Given the description of an element on the screen output the (x, y) to click on. 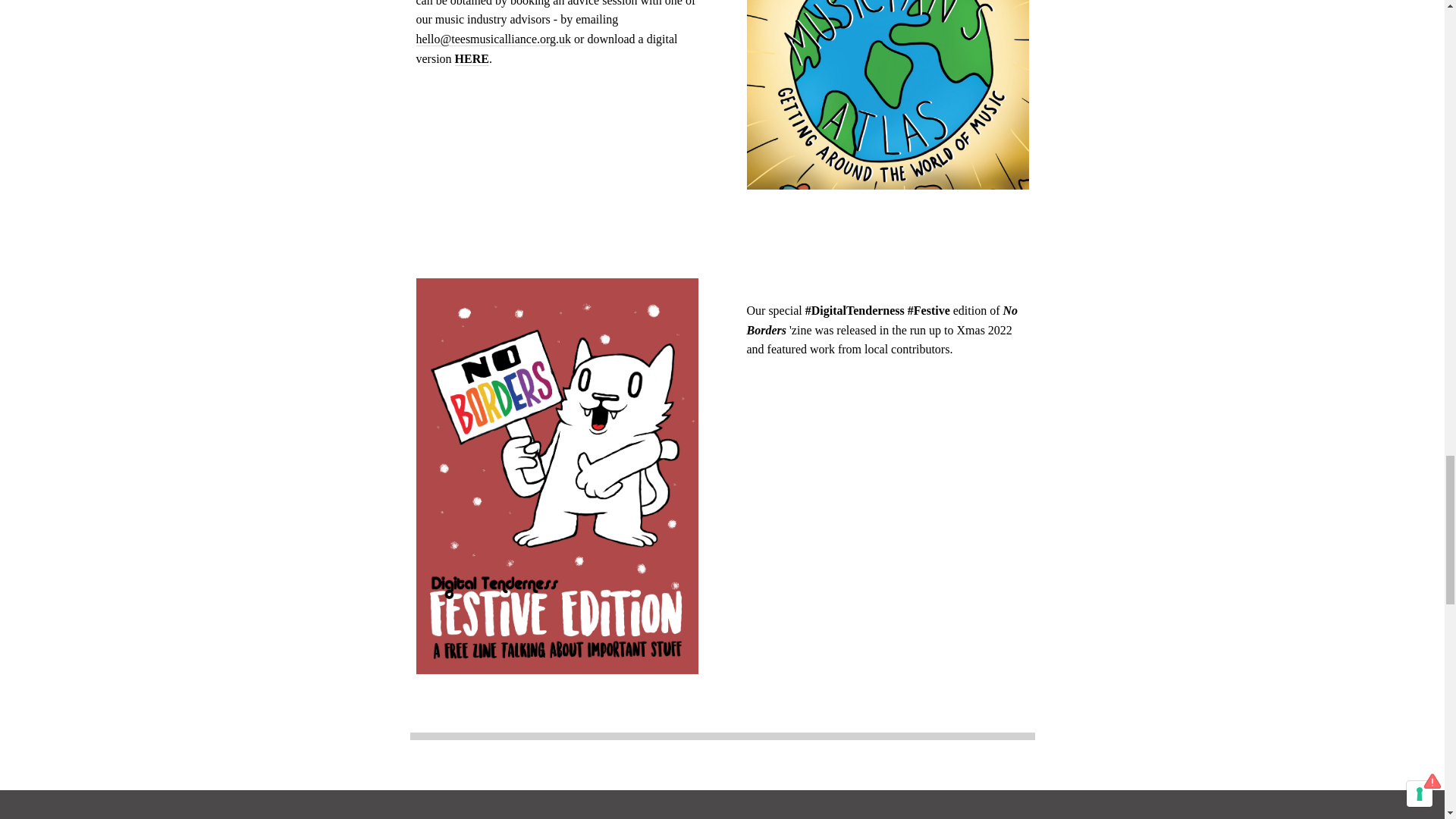
Web Atlas 2023 (471, 59)
HERE (471, 59)
